Given the description of an element on the screen output the (x, y) to click on. 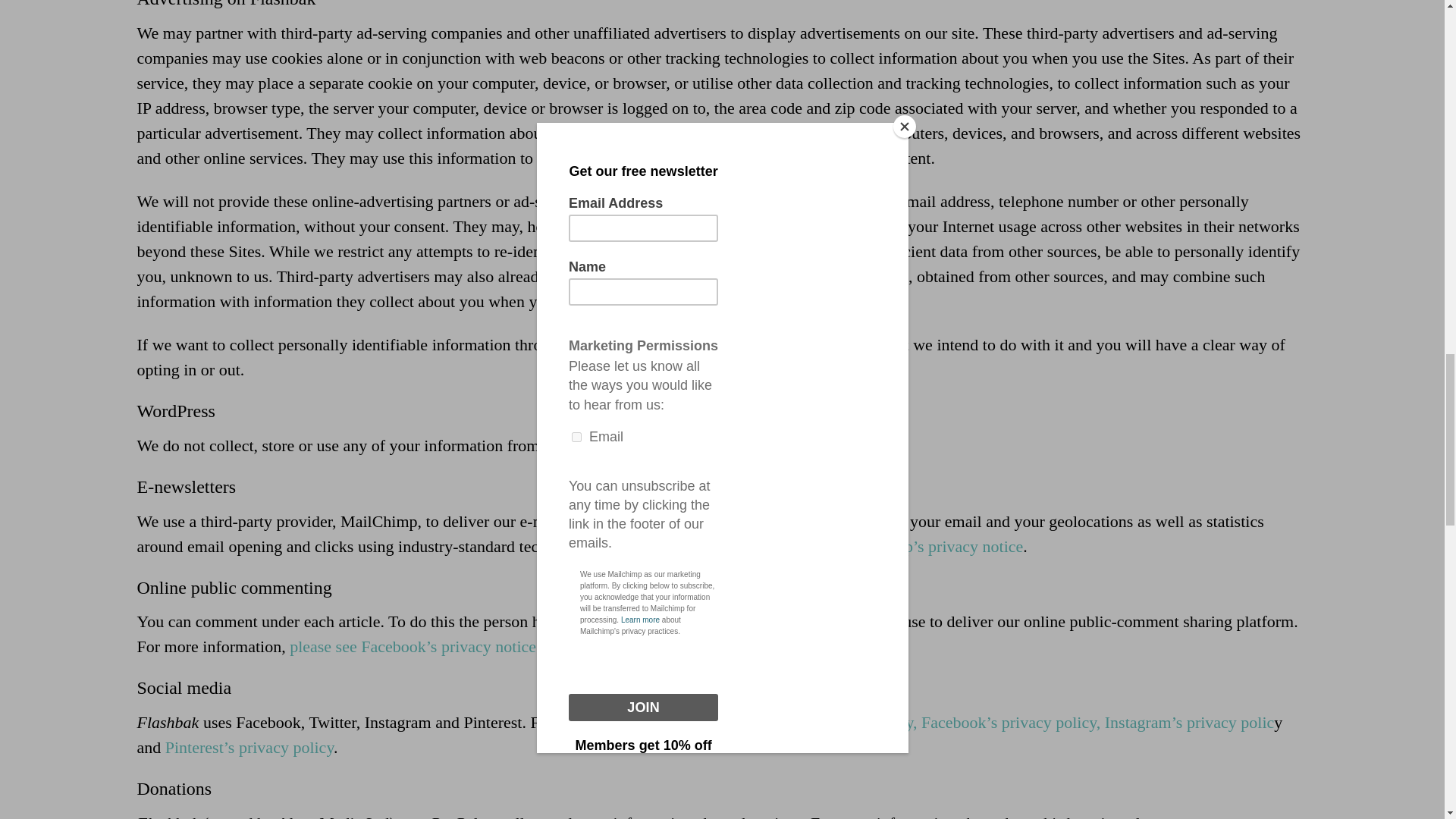
Disqus (650, 646)
here (852, 646)
